Given the description of an element on the screen output the (x, y) to click on. 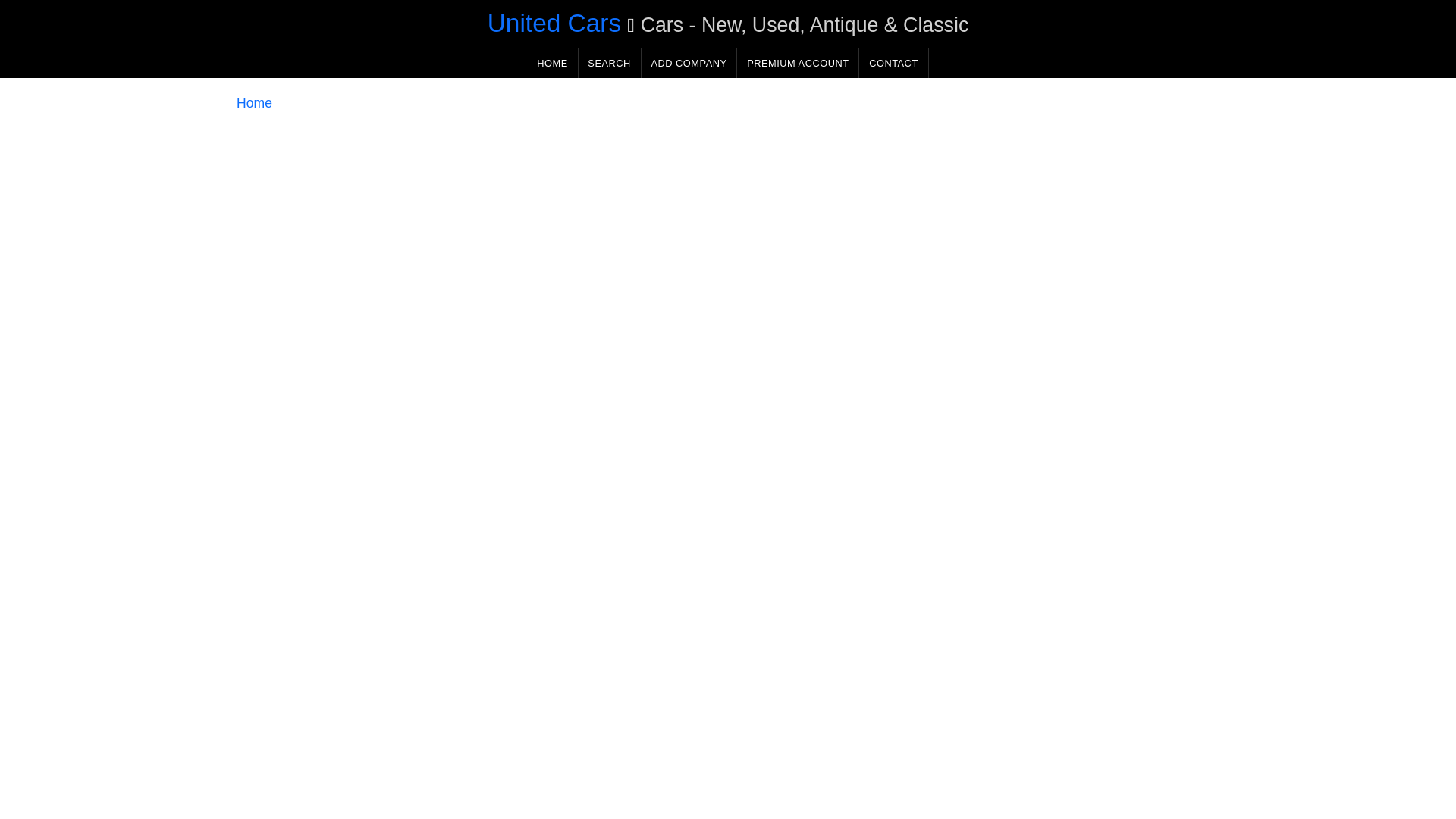
Add a new company (689, 62)
Search in this webseite. (609, 62)
ADD COMPANY (689, 62)
HOME (551, 62)
CONTACT (893, 62)
Home (253, 102)
Premium account (797, 62)
PREMIUM ACCOUNT (797, 62)
United Cars (554, 22)
SEARCH (609, 62)
